Given the description of an element on the screen output the (x, y) to click on. 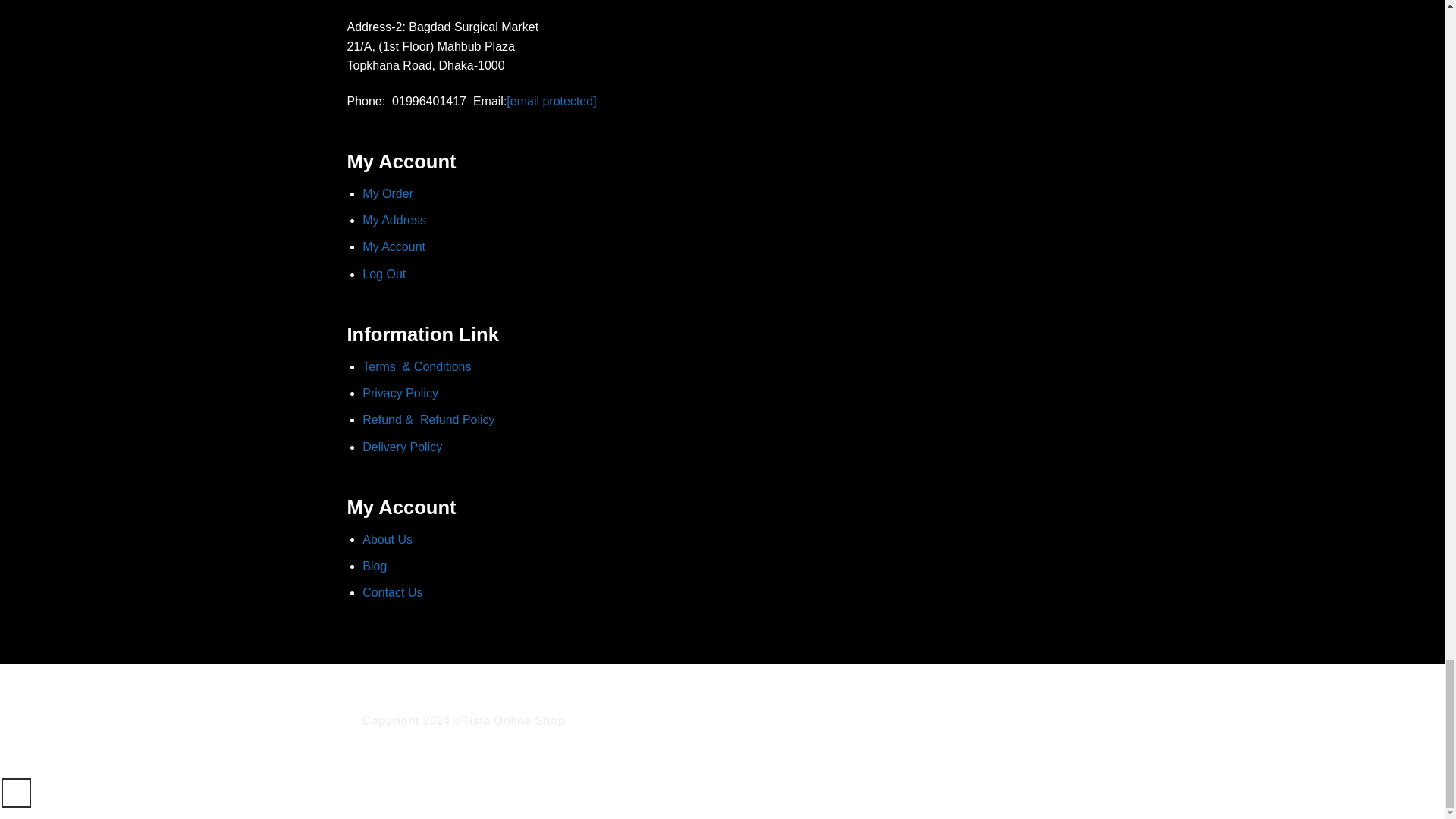
My Order (387, 193)
My Address (394, 219)
My Account (393, 246)
Submit (397, 273)
